Given the description of an element on the screen output the (x, y) to click on. 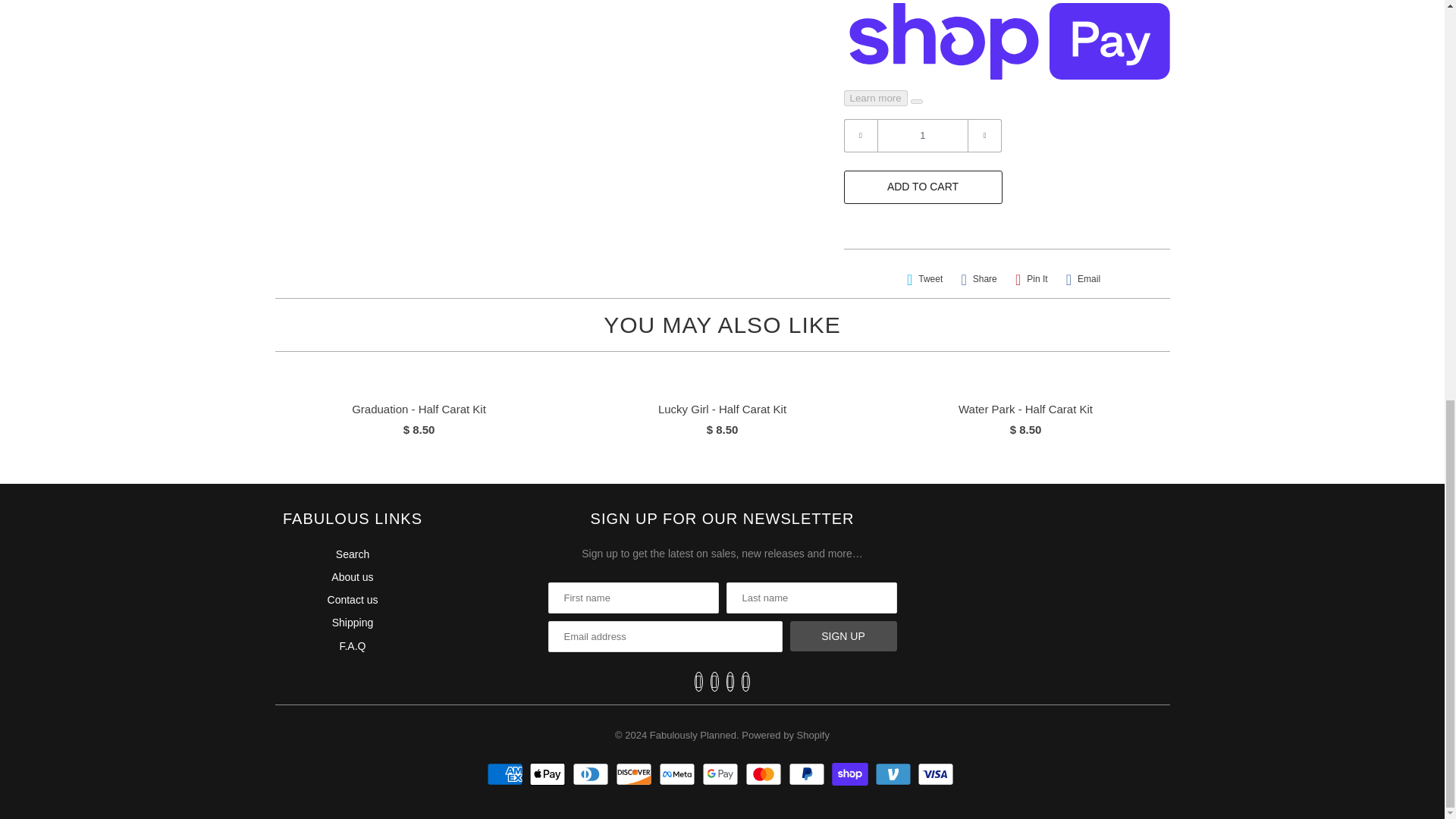
Sign Up (843, 635)
Diners Club (592, 773)
Share (978, 278)
Email this to a friend (1083, 278)
Email (1083, 278)
Visa (937, 773)
ADD TO CART (922, 186)
Tweet (924, 278)
Mastercard (765, 773)
American Express (506, 773)
Google Pay (721, 773)
My Happy Place - Half Carat Kit (137, 32)
Pin It (1031, 278)
Venmo (895, 773)
Apple Pay (549, 773)
